Given the description of an element on the screen output the (x, y) to click on. 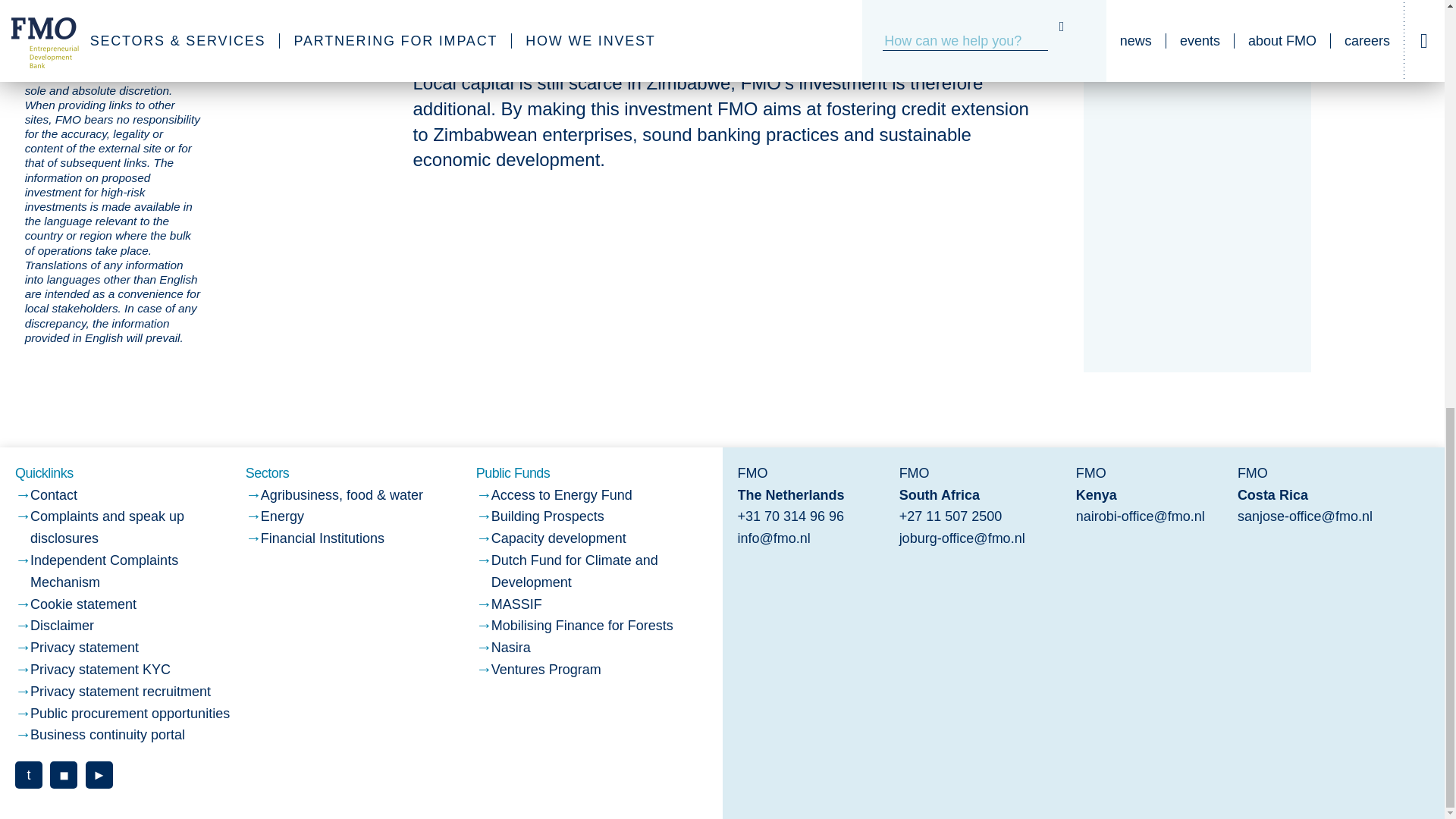
Public procurement opportunities (130, 713)
Energy (282, 516)
Privacy statement KYC (100, 669)
Privacy statement recruitment (120, 691)
Disclaimer (62, 625)
Business continuity portal (107, 734)
Privacy statement (84, 647)
Independent Complaints Mechanism (103, 570)
Complaints and speak up disclosures (107, 527)
Contact (53, 494)
Cookie statement (83, 604)
